Given the description of an element on the screen output the (x, y) to click on. 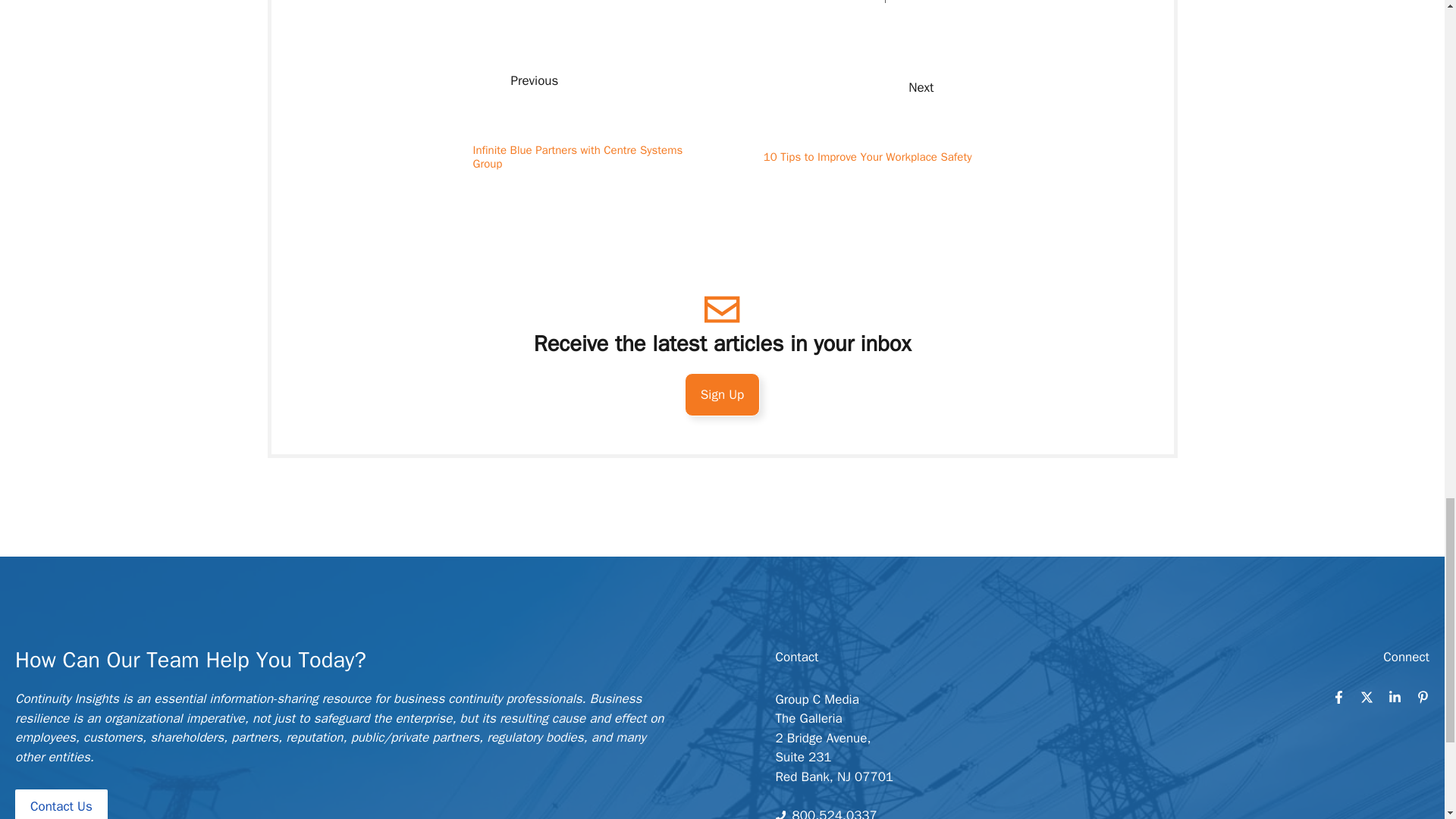
3rd party ad content (721, 507)
Sign Up (722, 394)
10 Tips to Improve Your Workplace Safety (867, 156)
Infinite Blue Partners with Centre Systems Group (577, 156)
